Given the description of an element on the screen output the (x, y) to click on. 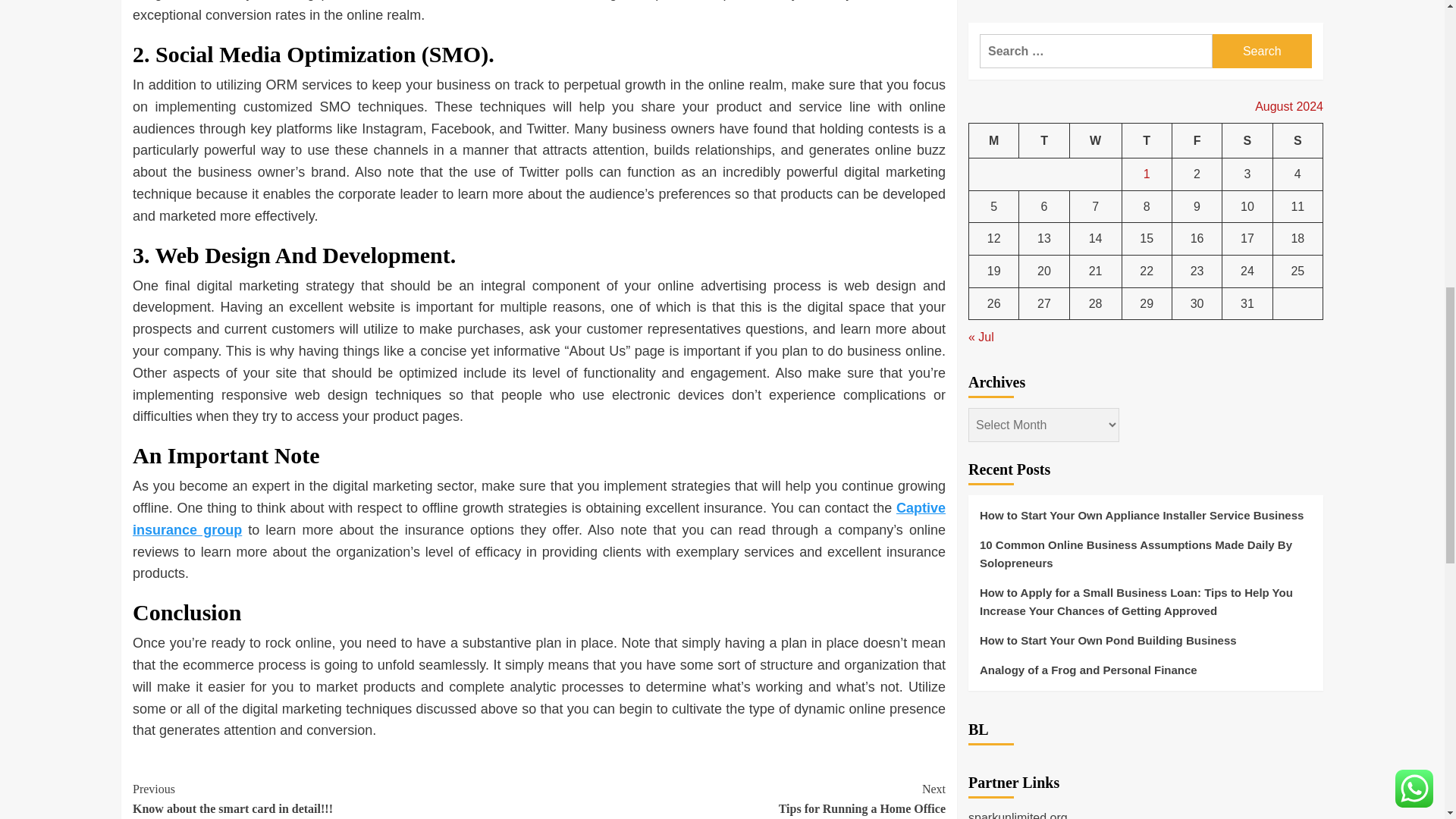
Captive insurance group (335, 798)
